Given the description of an element on the screen output the (x, y) to click on. 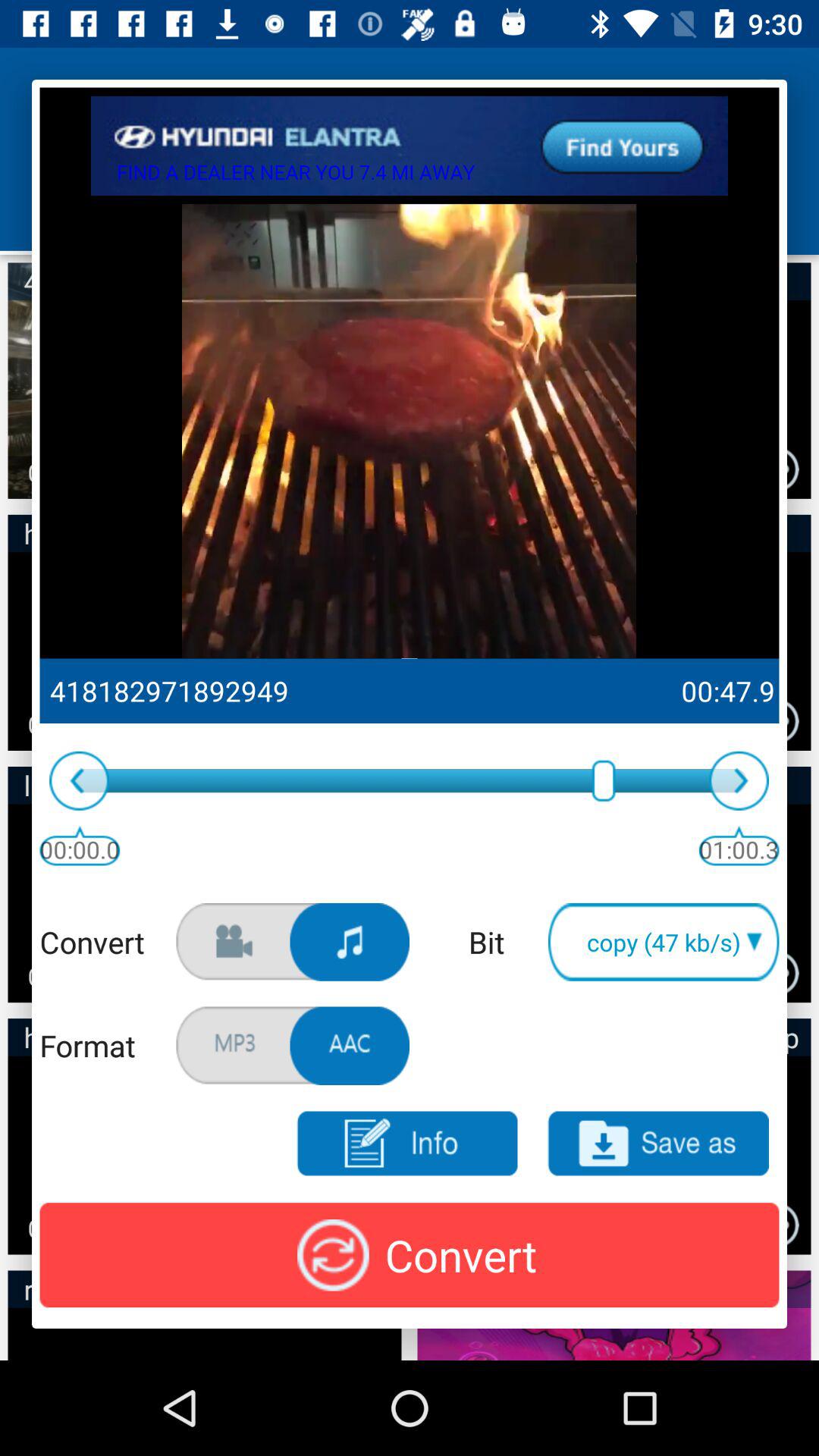
get info (406, 1143)
